Given the description of an element on the screen output the (x, y) to click on. 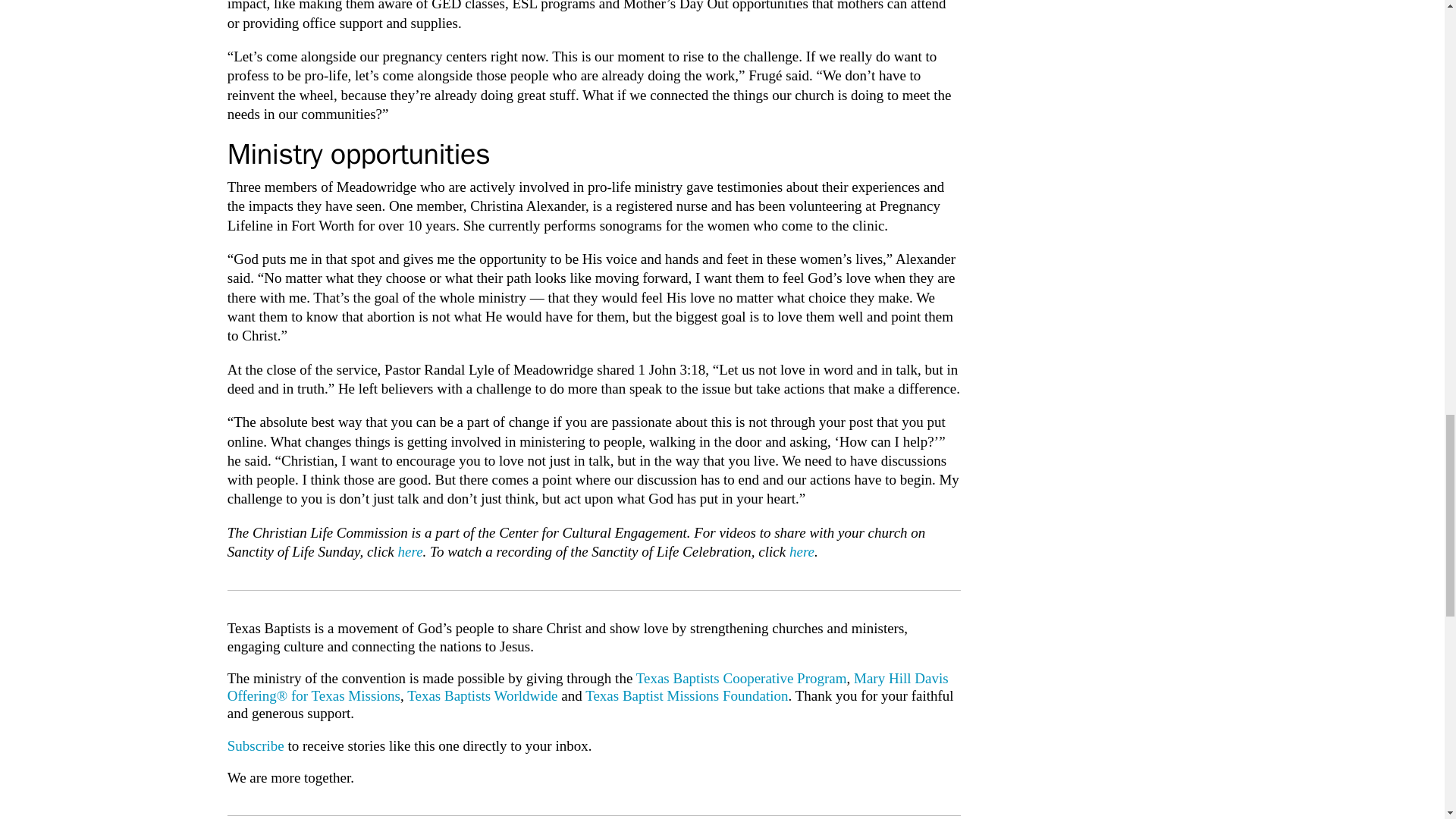
Subscribe (255, 745)
Texas Baptist Missions Foundation (686, 695)
Texas Baptists Worldwide (482, 695)
Texas Baptists Cooperative Program (741, 678)
here (801, 551)
here (410, 551)
